Given the description of an element on the screen output the (x, y) to click on. 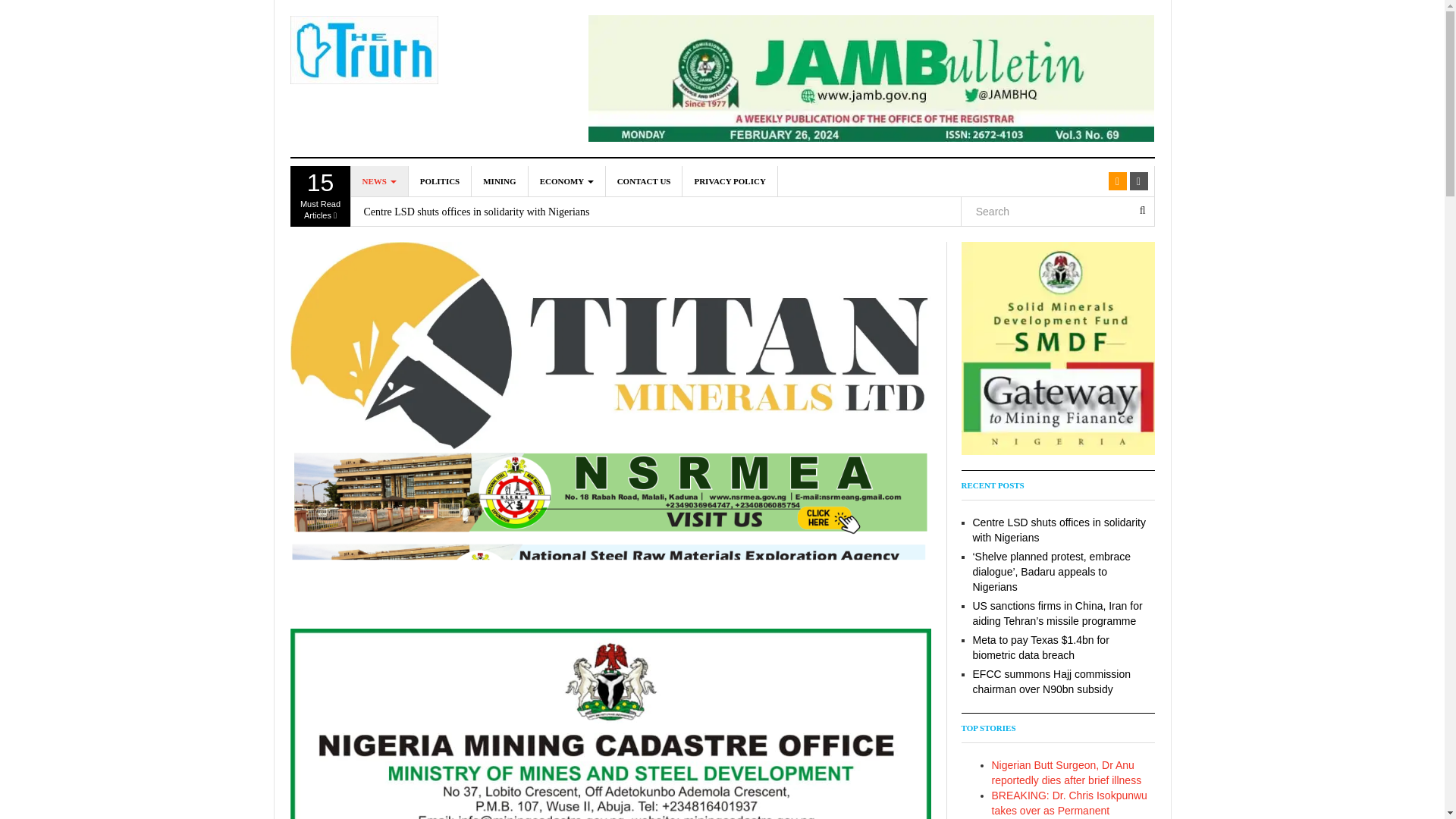
POLITICS (440, 181)
PRIVACY POLICY (729, 181)
The Truth (363, 49)
NEWS (378, 181)
ECONOMY (566, 181)
MINING (319, 196)
CONTACT US (499, 181)
Centre LSD shuts offices in solidarity with Nigerians (643, 181)
